Given the description of an element on the screen output the (x, y) to click on. 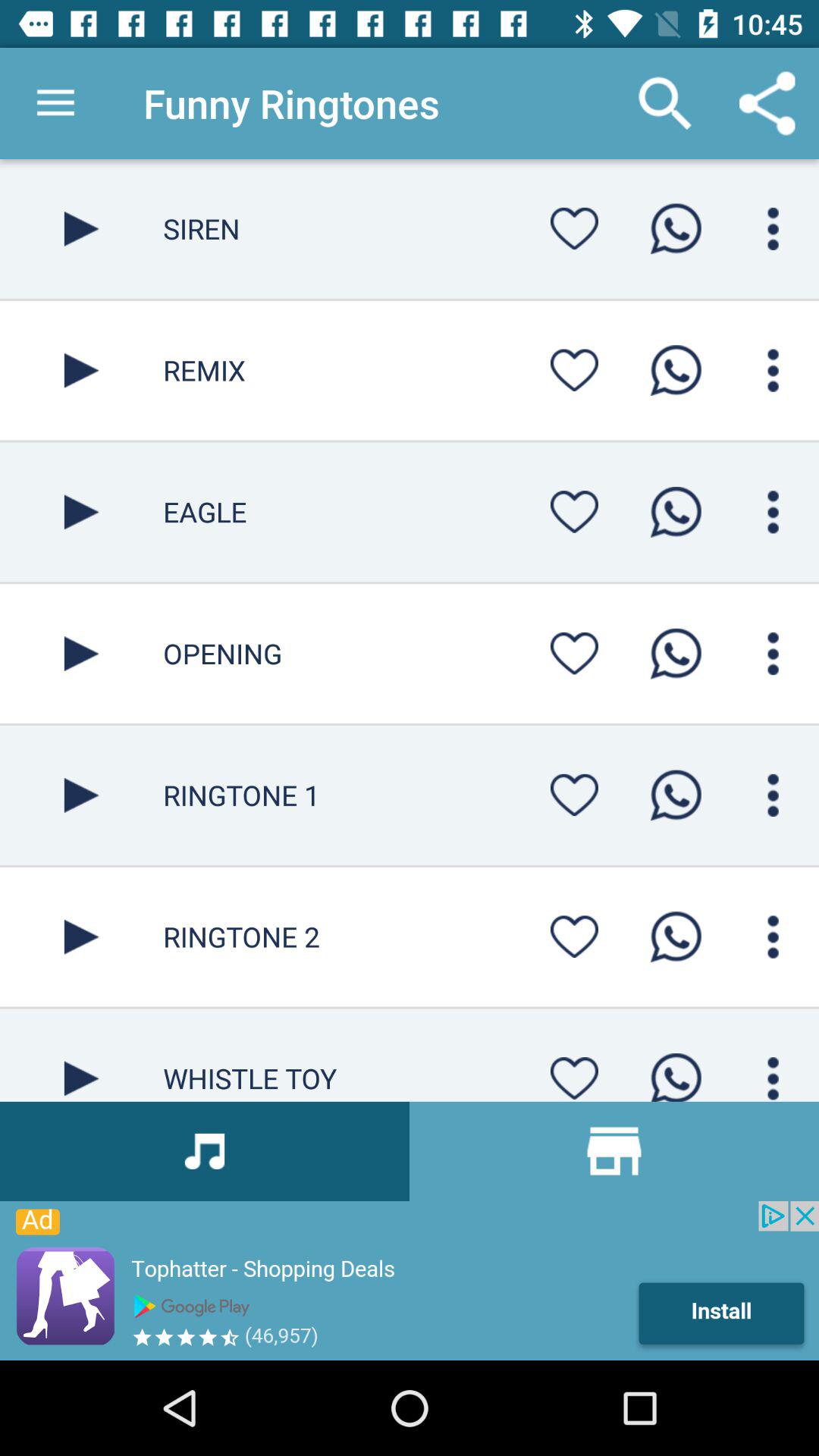
play page (81, 936)
